Given the description of an element on the screen output the (x, y) to click on. 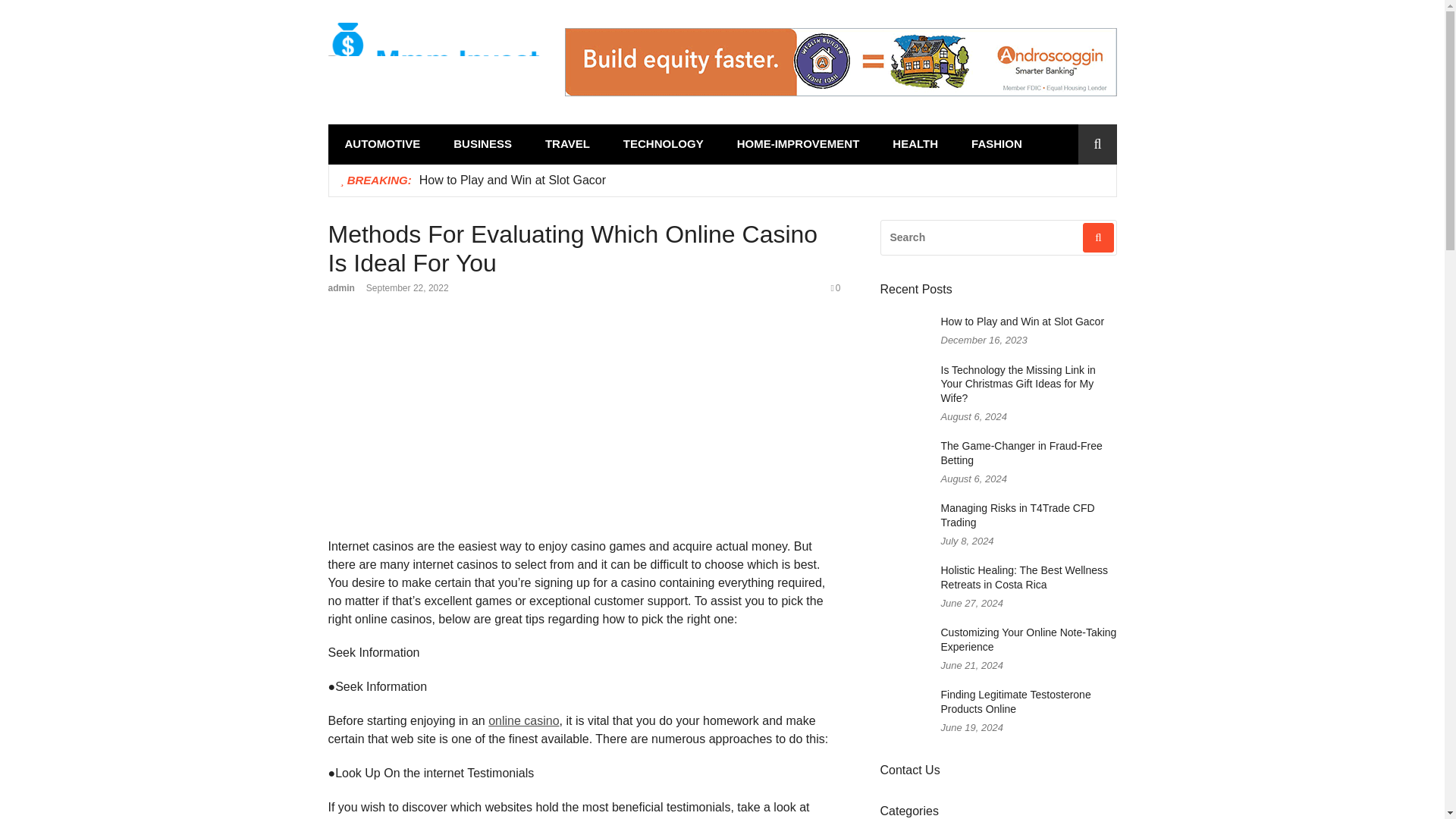
Managing Risks in T4Trade CFD Trading (1017, 515)
AUTOMOTIVE (381, 144)
HOME-IMPROVEMENT (798, 144)
admin (340, 287)
The Game-Changer in Fraud-Free Betting (1021, 452)
How to Play and Win at Slot Gacor (1021, 321)
Holistic Healing: The Best Wellness Retreats in Costa Rica (1023, 577)
TECHNOLOGY (663, 144)
Customizing Your Online Note-Taking Experience (1028, 639)
